Given the description of an element on the screen output the (x, y) to click on. 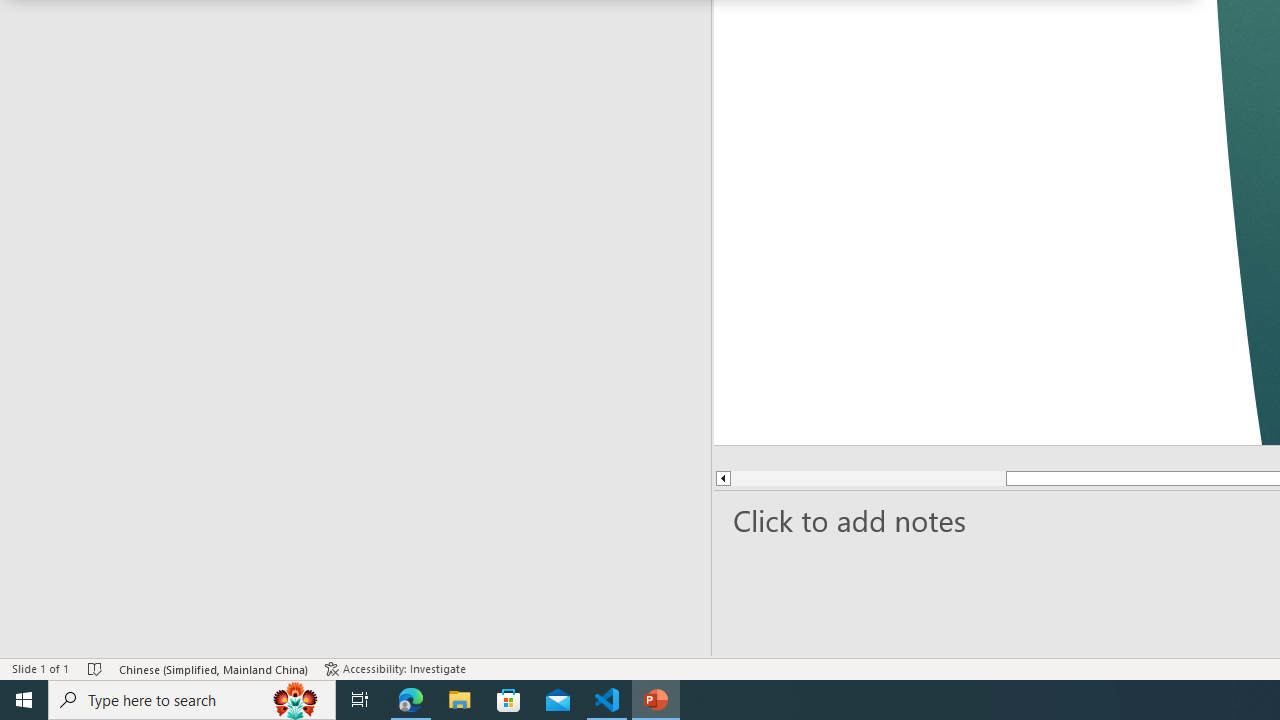
Accessibility Checker Accessibility: Investigate (397, 668)
Line up (722, 478)
Page up (868, 478)
Visual Studio Code - 1 running window (607, 699)
Start (24, 699)
Type here to search (191, 699)
Microsoft Store (509, 699)
Microsoft Edge - 1 running window (411, 699)
Spell Check No Errors (95, 668)
Search highlights icon opens search home window (295, 699)
Task View (359, 699)
PowerPoint - 1 running window (656, 699)
File Explorer (460, 699)
